Given the description of an element on the screen output the (x, y) to click on. 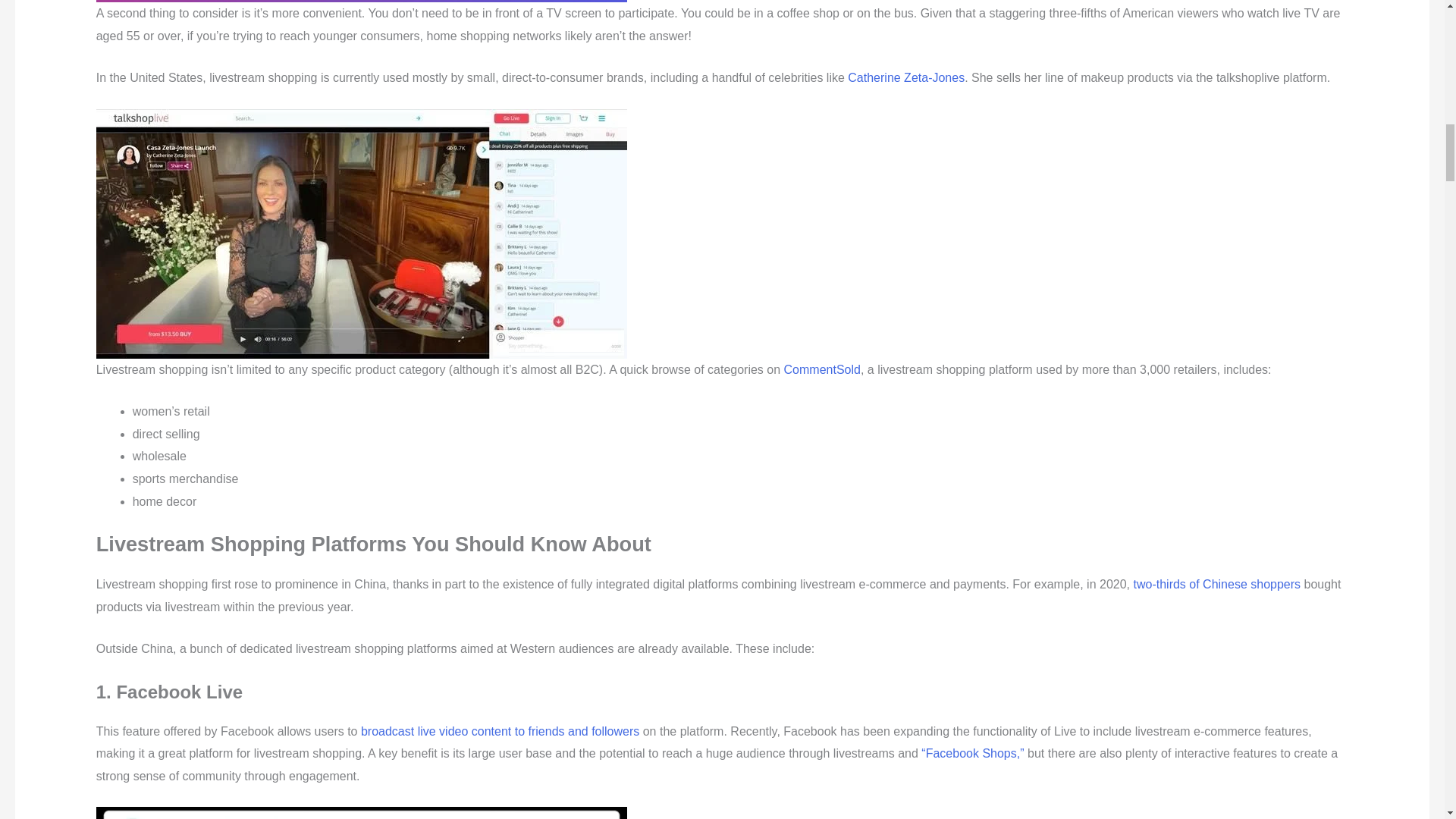
CommentSold (822, 369)
Catherine Zeta-Jones (905, 77)
broadcast live video content to friends and followers (500, 730)
two-thirds of Chinese shoppers (1216, 584)
